Given the description of an element on the screen output the (x, y) to click on. 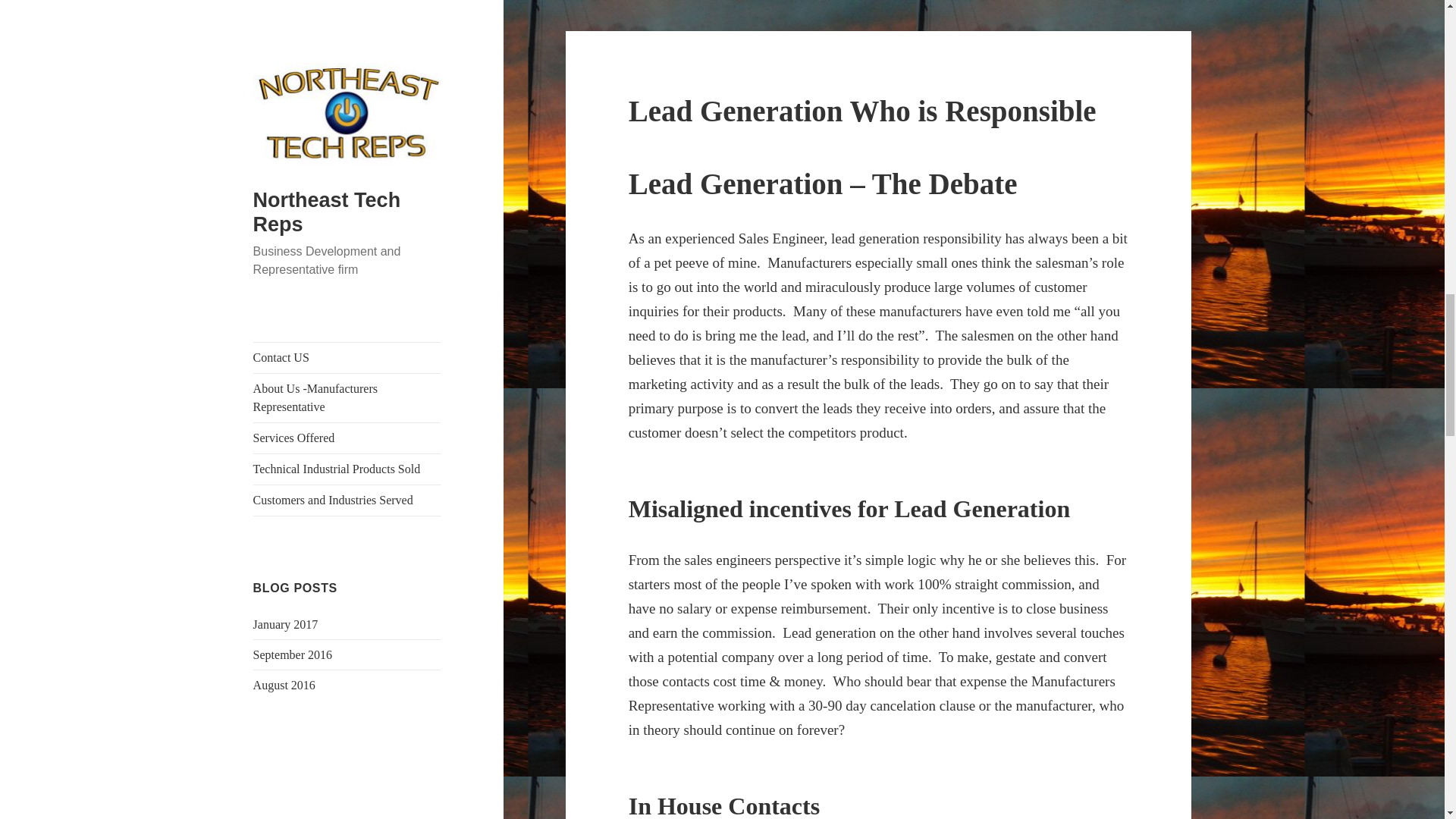
Lead Generation Who is Responsible (862, 111)
